Given the description of an element on the screen output the (x, y) to click on. 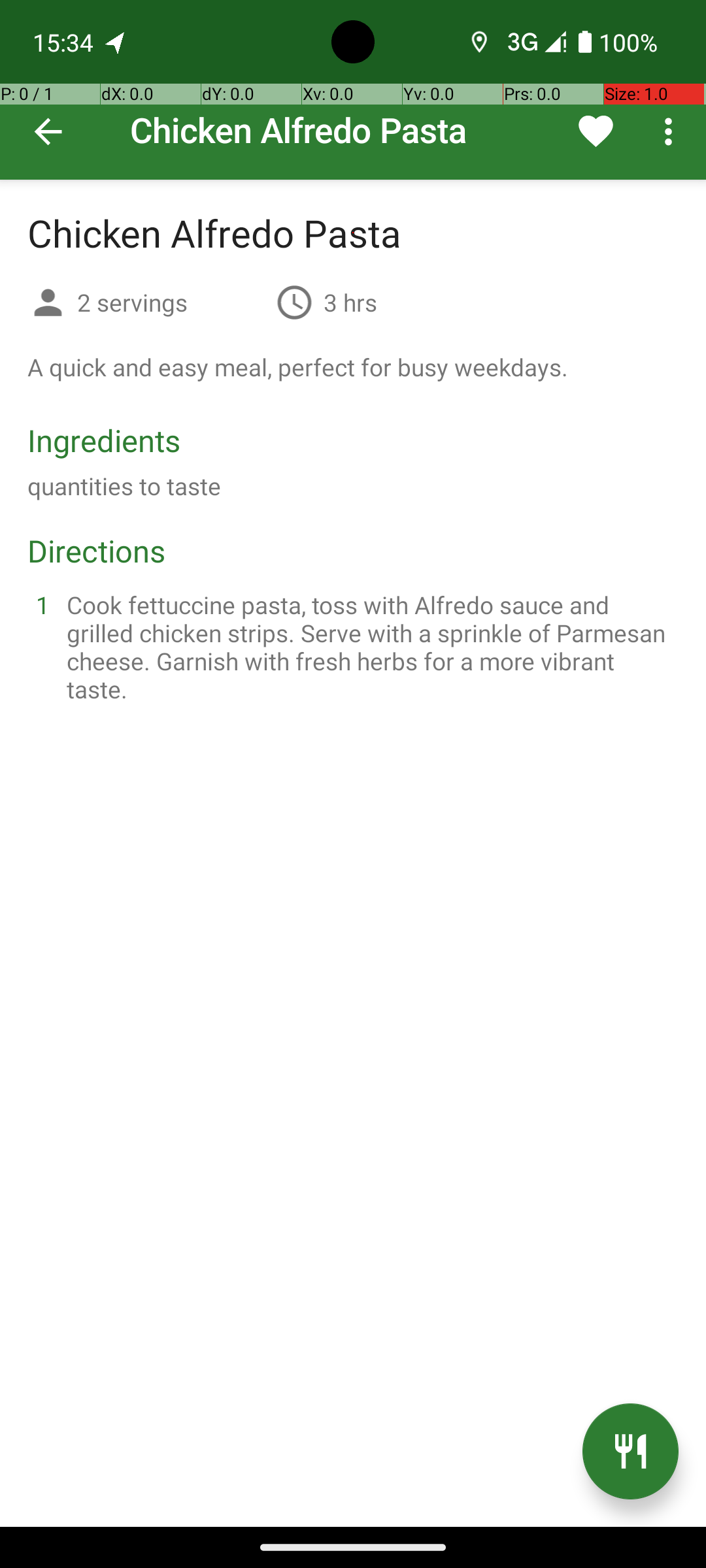
Cook fettuccine pasta, toss with Alfredo sauce and grilled chicken strips. Serve with a sprinkle of Parmesan cheese. Garnish with fresh herbs for a more vibrant taste. Element type: android.widget.TextView (368, 646)
